Given the description of an element on the screen output the (x, y) to click on. 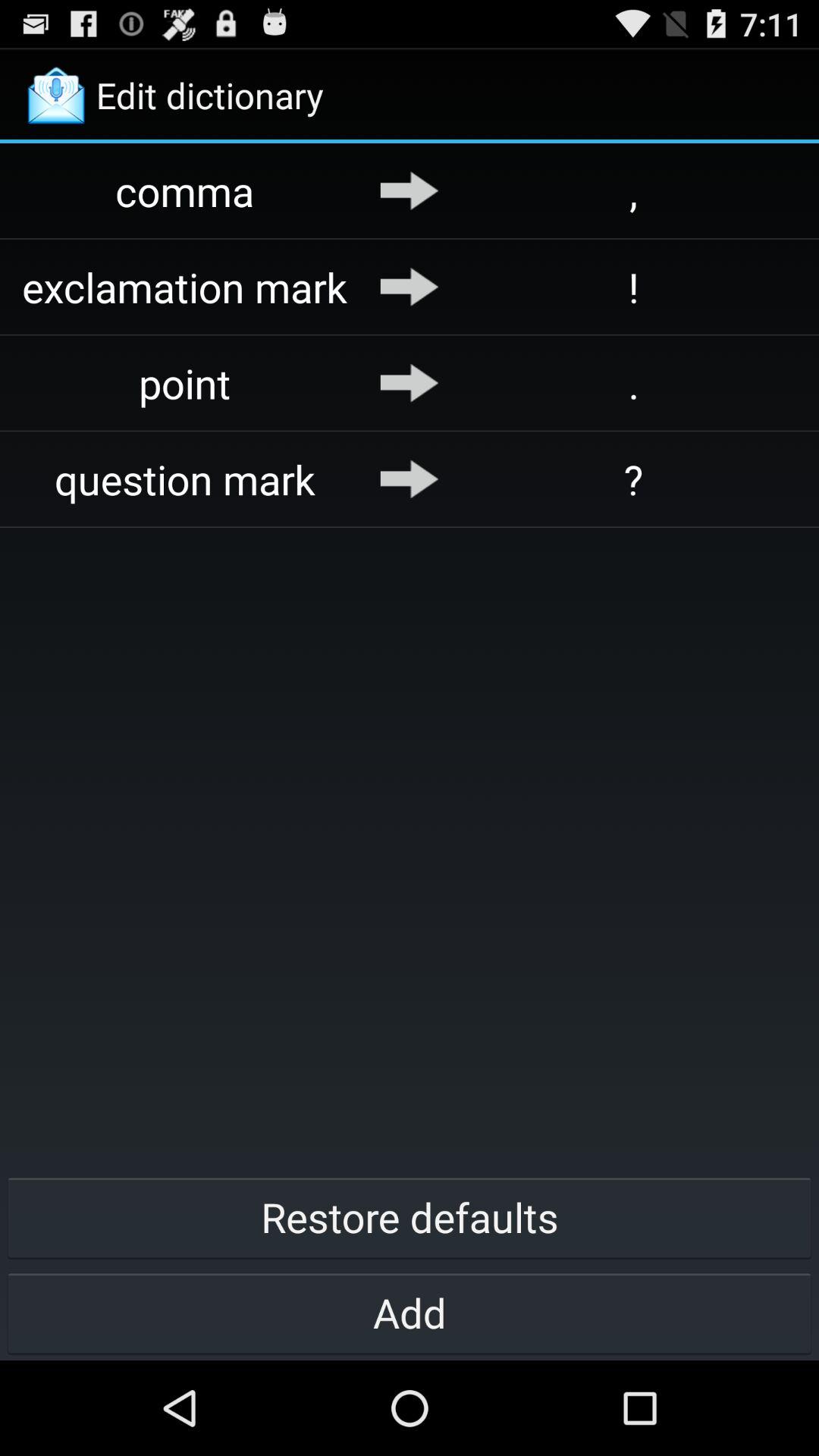
jump to the , app (633, 190)
